Given the description of an element on the screen output the (x, y) to click on. 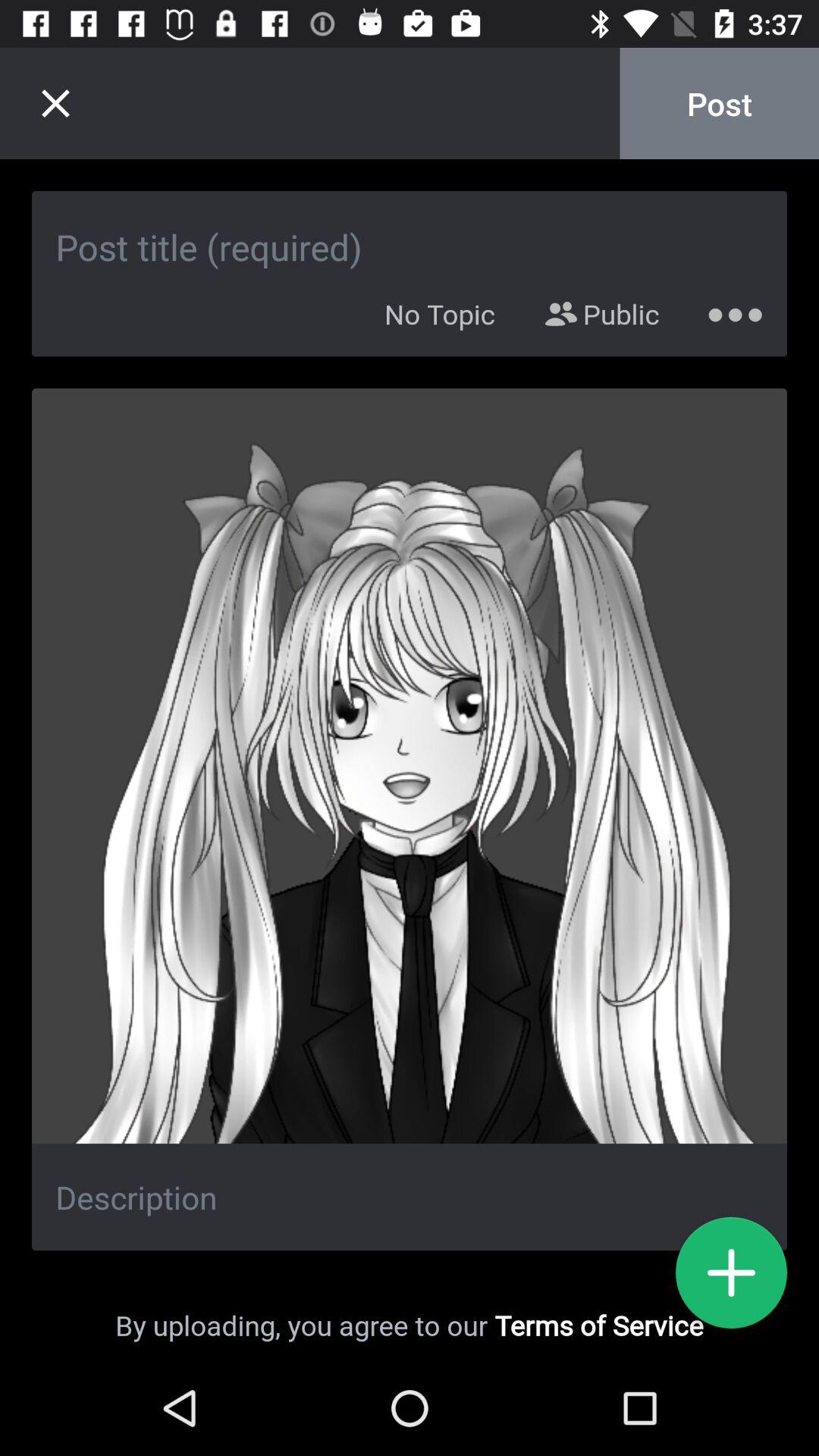
post title text box (409, 231)
